Given the description of an element on the screen output the (x, y) to click on. 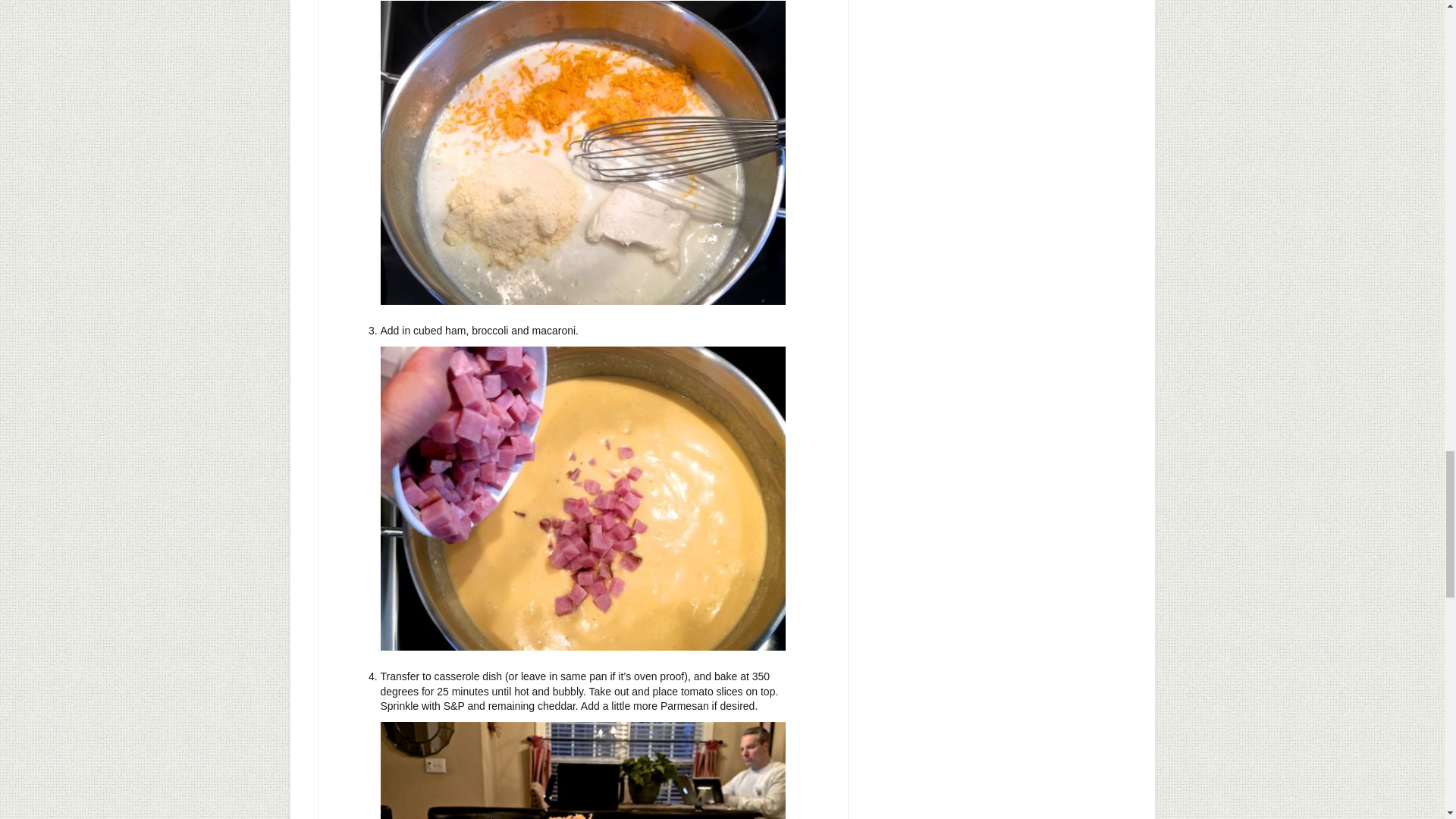
Adding ham (583, 498)
Toms and Cheese (583, 770)
Adding Cheese (583, 152)
